Given the description of an element on the screen output the (x, y) to click on. 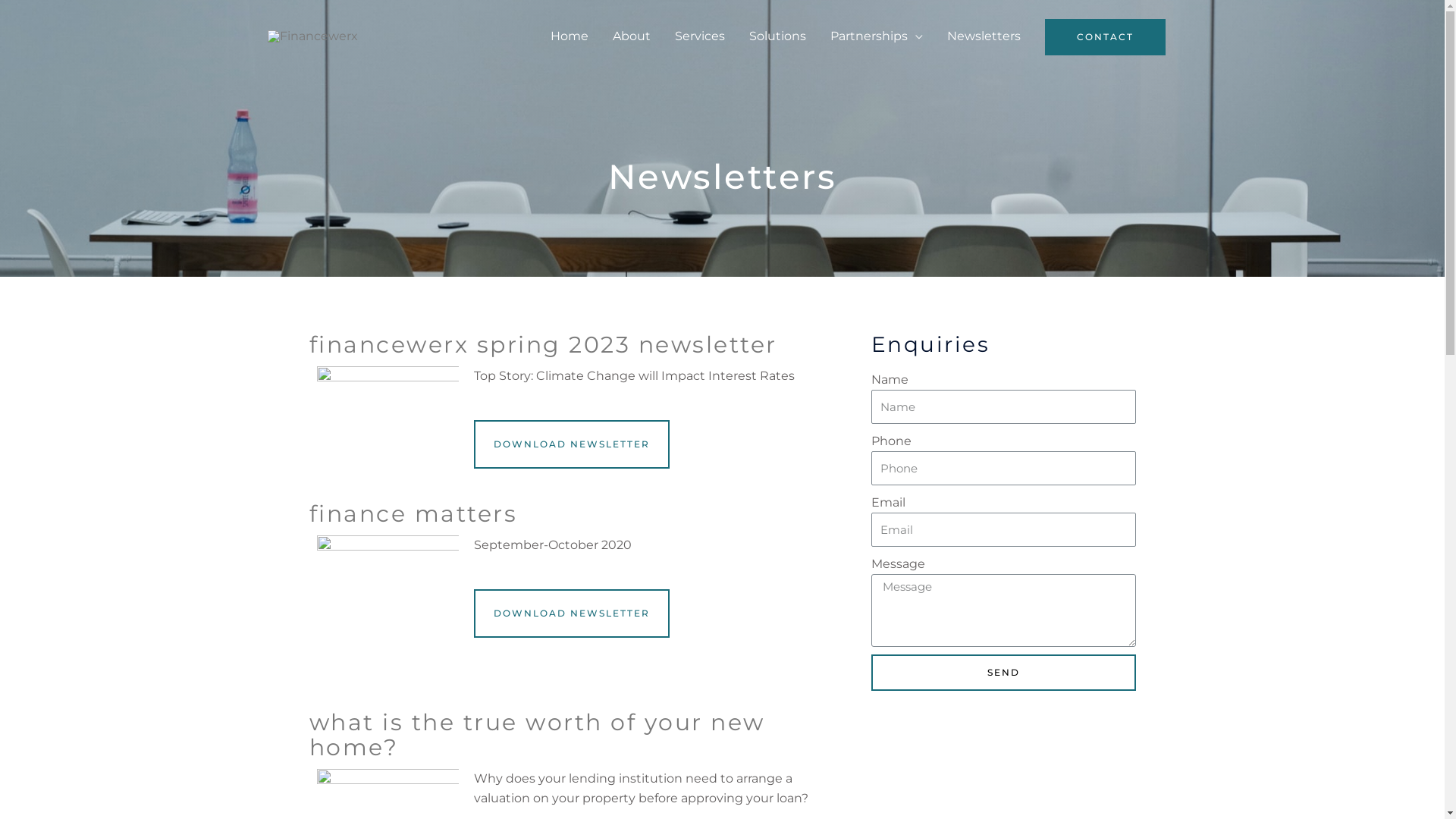
what is the true worth of your new home? Element type: text (537, 734)
Partnerships Element type: text (875, 36)
Home Element type: text (569, 36)
CONTACT Element type: text (1104, 36)
DOWNLOAD NEWSLETTER Element type: text (571, 444)
Newsletters Element type: text (983, 36)
Solutions Element type: text (777, 36)
financewerx spring 2023 newsletter Element type: text (543, 344)
finance matters Element type: text (413, 513)
About Element type: text (631, 36)
SEND Element type: text (1002, 672)
Services Element type: text (699, 36)
DOWNLOAD NEWSLETTER Element type: text (571, 613)
